Given the description of an element on the screen output the (x, y) to click on. 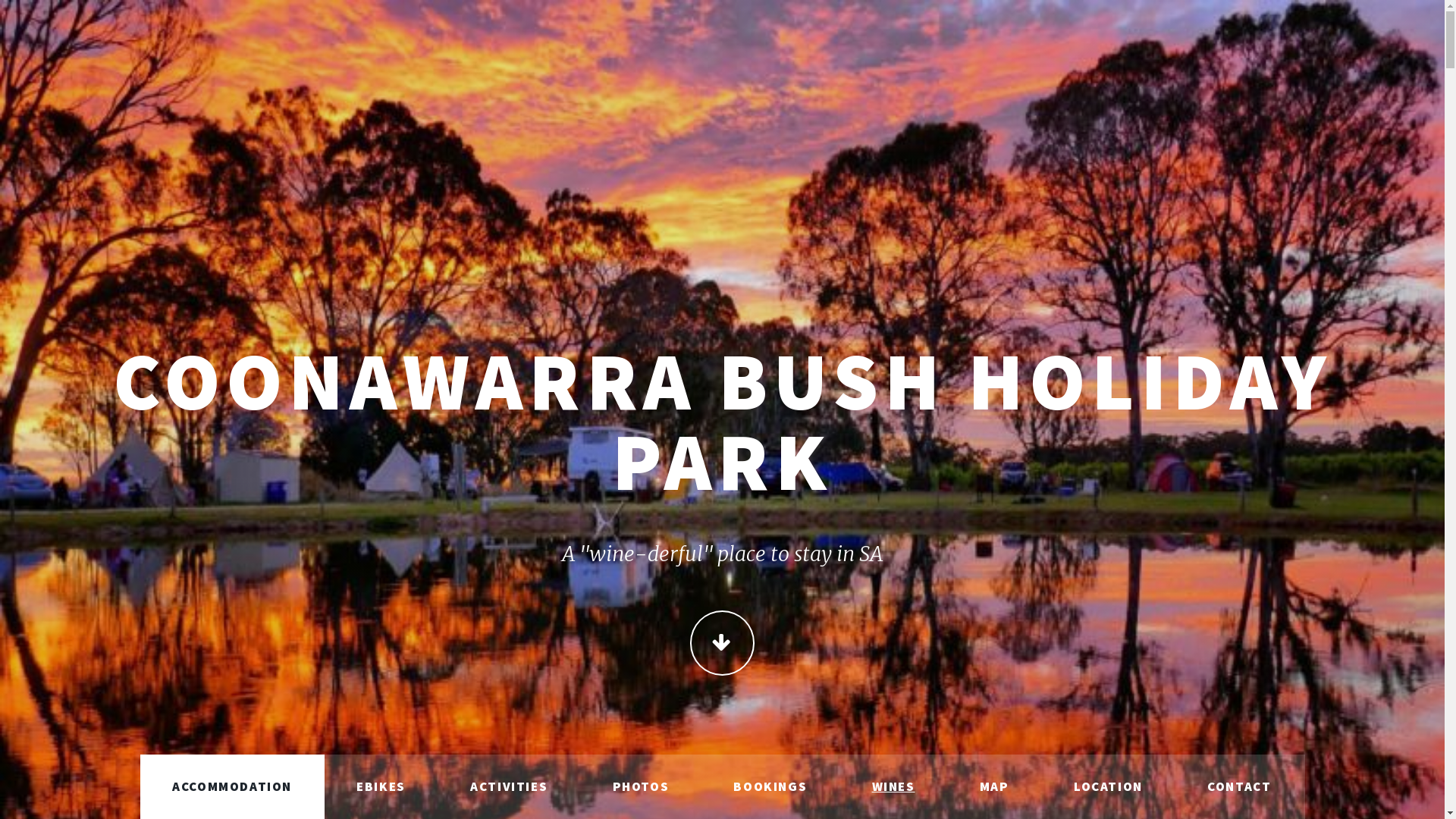
CONTINUE Element type: text (722, 642)
